Given the description of an element on the screen output the (x, y) to click on. 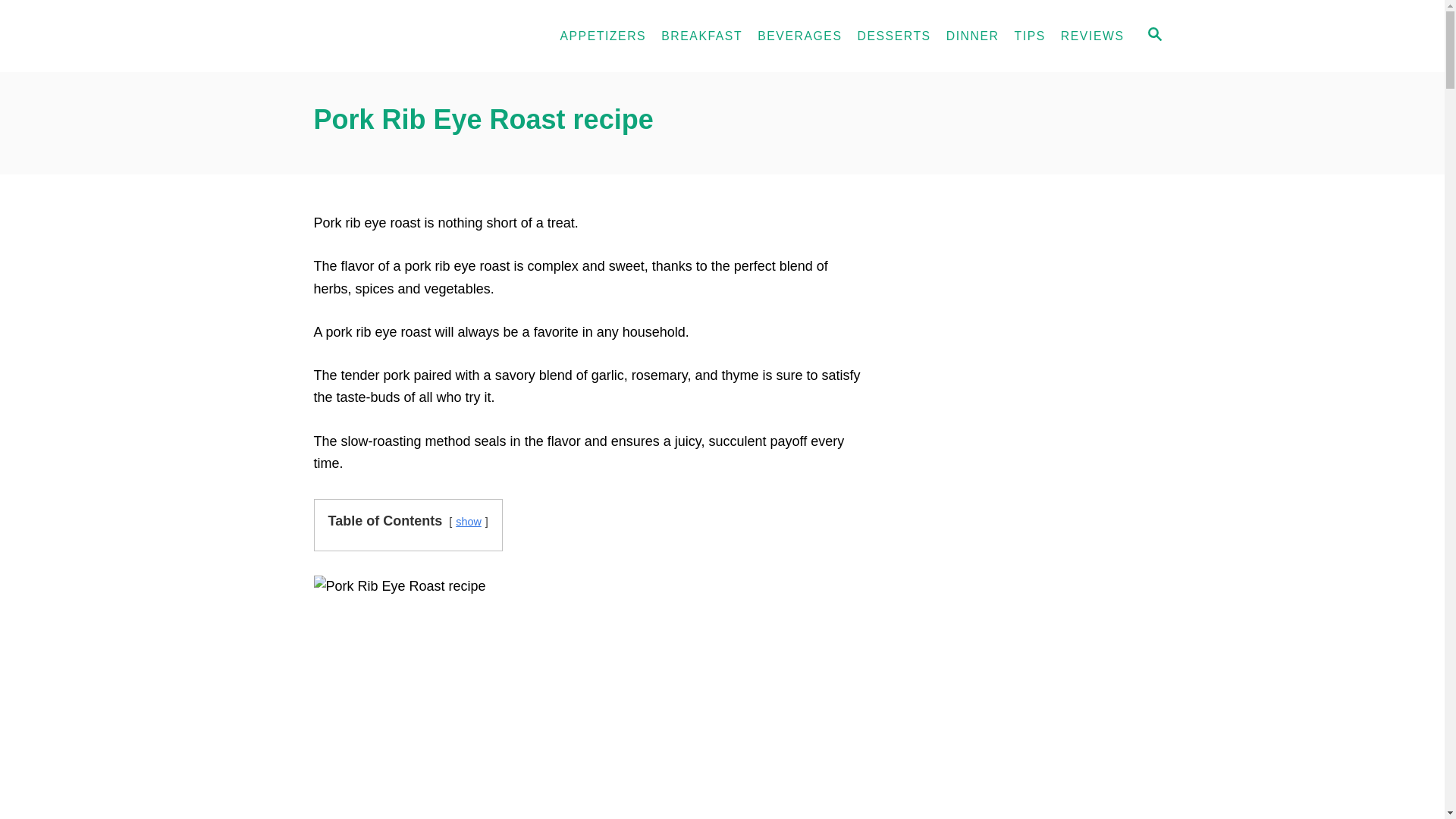
BEVERAGES (798, 36)
REVIEWS (1092, 36)
SEARCH (1154, 35)
TIPS (1029, 36)
DINNER (973, 36)
DESSERTS (892, 36)
show (468, 521)
BREAKFAST (701, 36)
APPETIZERS (602, 36)
Kitchenarry (394, 36)
